Given the description of an element on the screen output the (x, y) to click on. 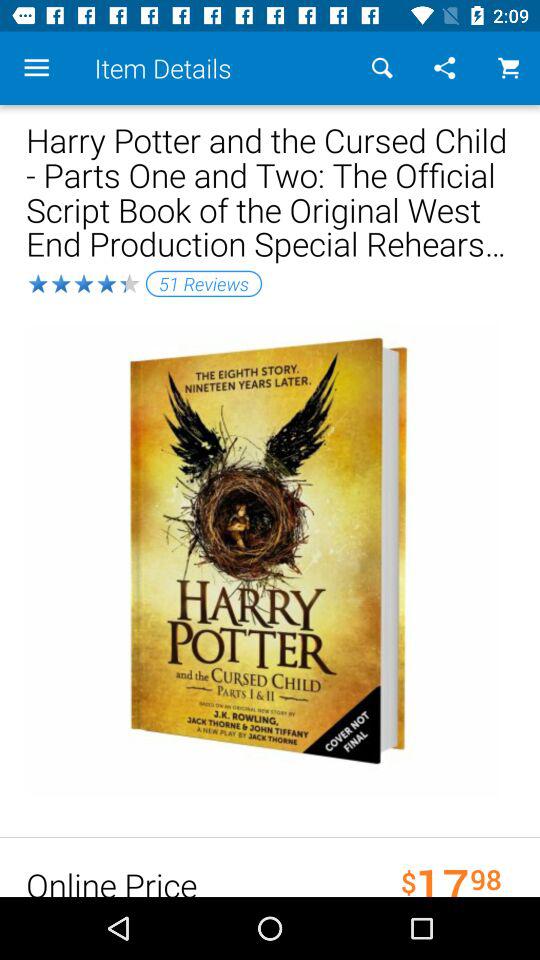
select item above harry potter and (36, 68)
